Given the description of an element on the screen output the (x, y) to click on. 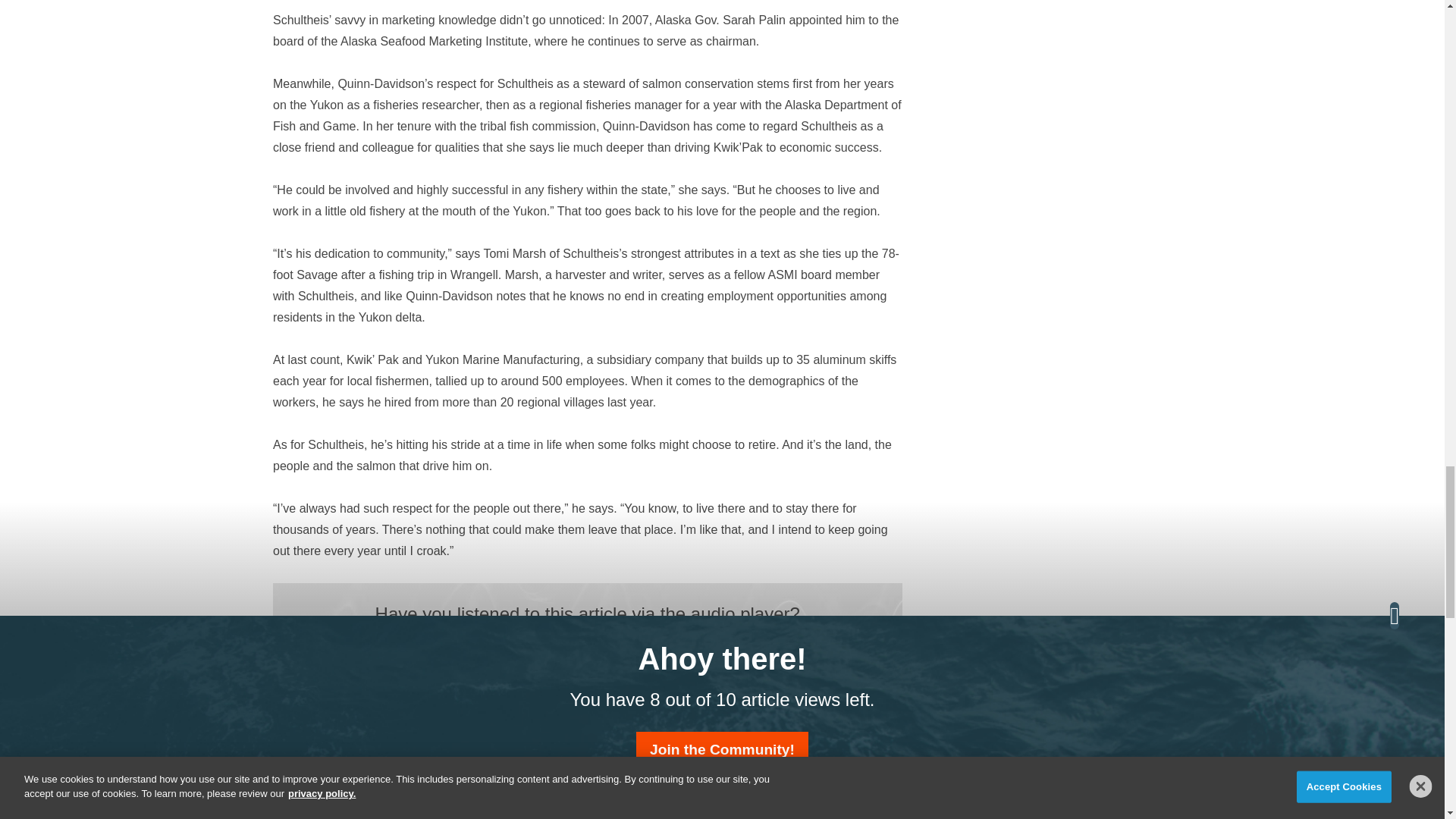
Connect with us on LinkedIn (600, 686)
Charlie Ess (631, 812)
Charlie Ess (325, 812)
Email Us (574, 686)
